Given the description of an element on the screen output the (x, y) to click on. 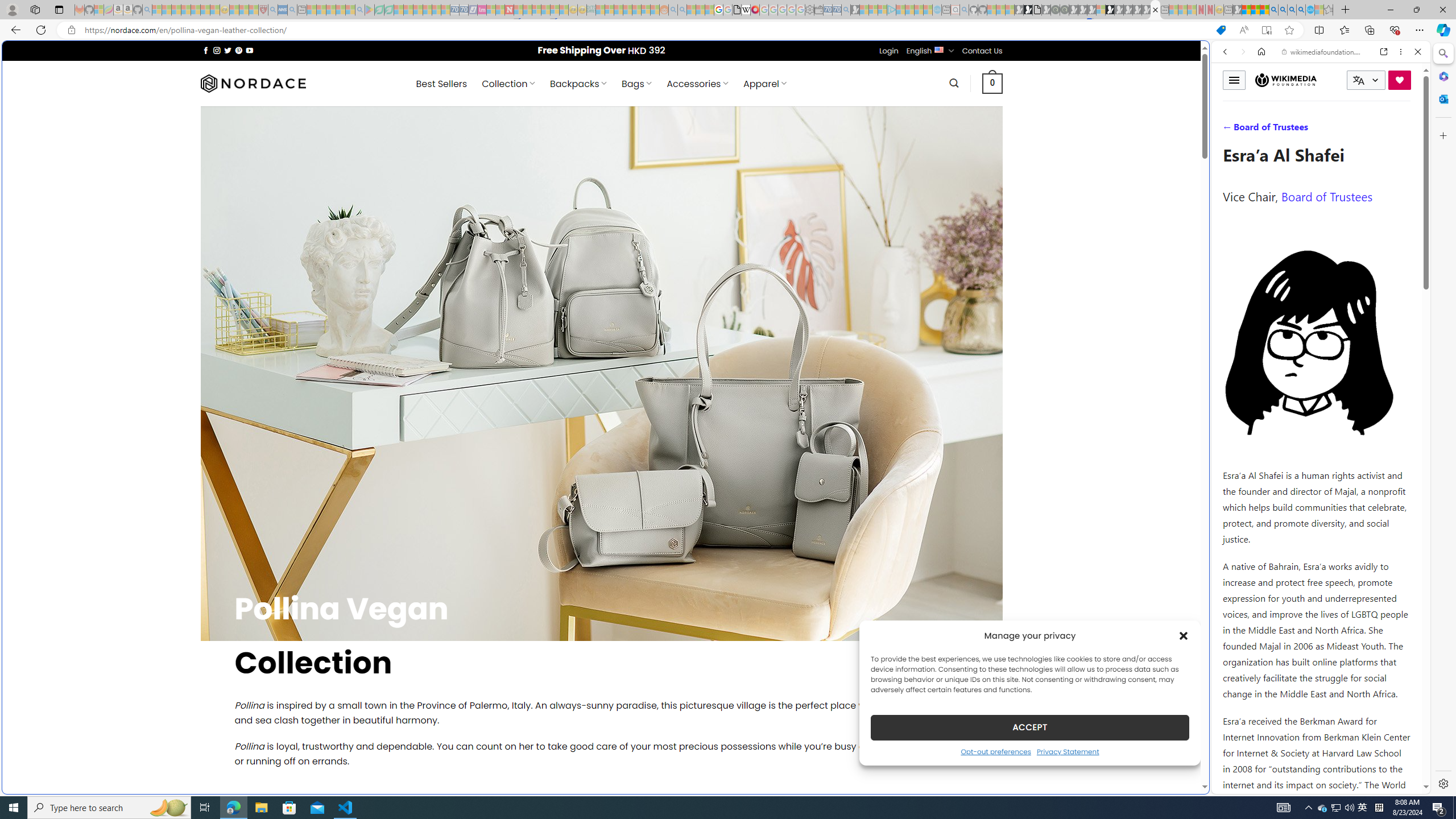
Terms of Use Agreement - Sleeping (378, 9)
Login (888, 50)
utah sues federal government - Search (922, 389)
Follow on Facebook (205, 49)
MSN - Sleeping (1236, 9)
Wikimedia Foundation (1285, 79)
